Given the description of an element on the screen output the (x, y) to click on. 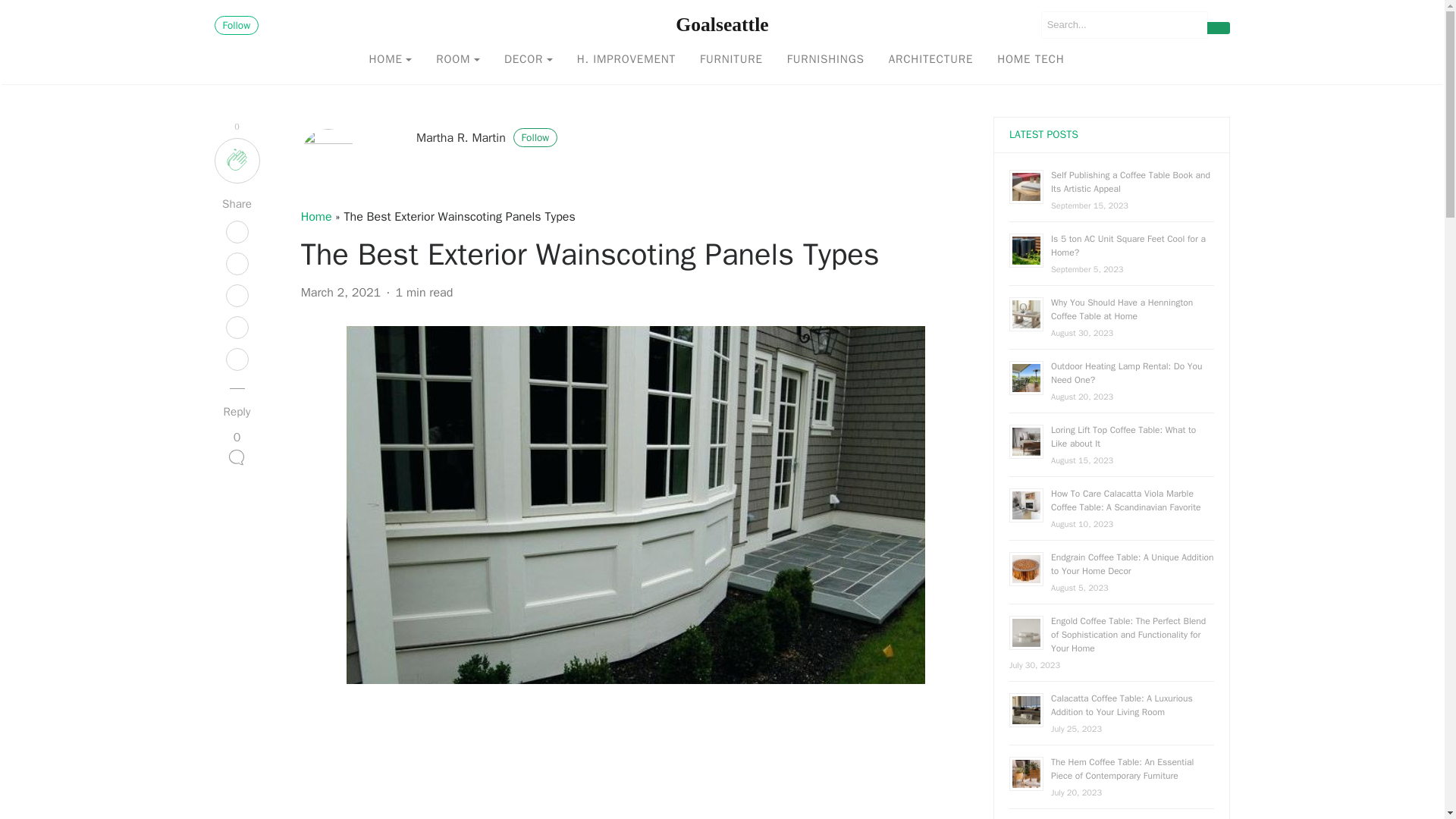
DECOR (528, 59)
Martha R. Martin Follow (486, 137)
Latest Posts (1043, 133)
Advertisement (636, 763)
ARCHITECTURE (930, 59)
ROOM (457, 59)
Follow (236, 25)
H. IMPROVEMENT (625, 59)
FURNITURE (730, 59)
Goalseattle (721, 24)
HOME TECH (1030, 59)
HOME (390, 59)
Home (316, 216)
FURNISHINGS (825, 59)
Search for: (1124, 24)
